Given the description of an element on the screen output the (x, y) to click on. 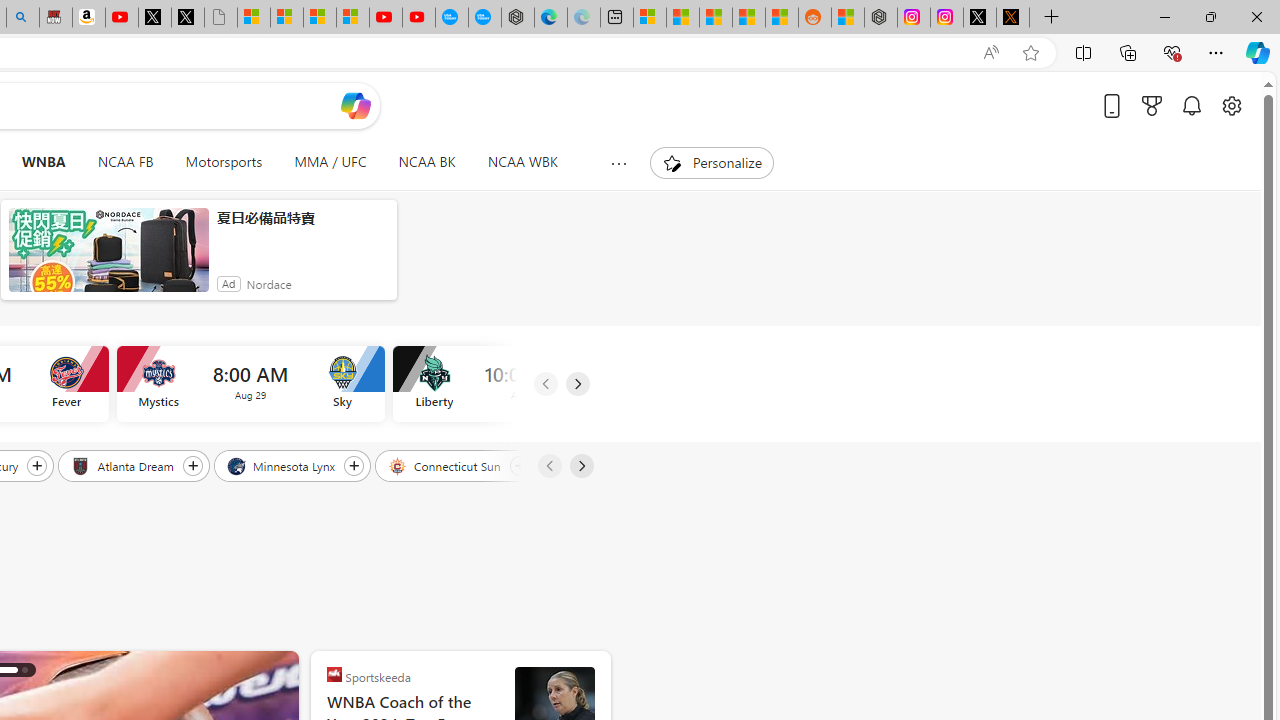
NCAA WBK (522, 162)
X (187, 17)
Shanghai, China weather forecast | Microsoft Weather (682, 17)
Connecticut Sun (445, 465)
NCAA BK (426, 162)
Shanghai, China hourly forecast | Microsoft Weather (716, 17)
Untitled (220, 17)
Next (580, 465)
WNBA (43, 162)
Log in to X / X (979, 17)
MMA / UFC (330, 162)
